Given the description of an element on the screen output the (x, y) to click on. 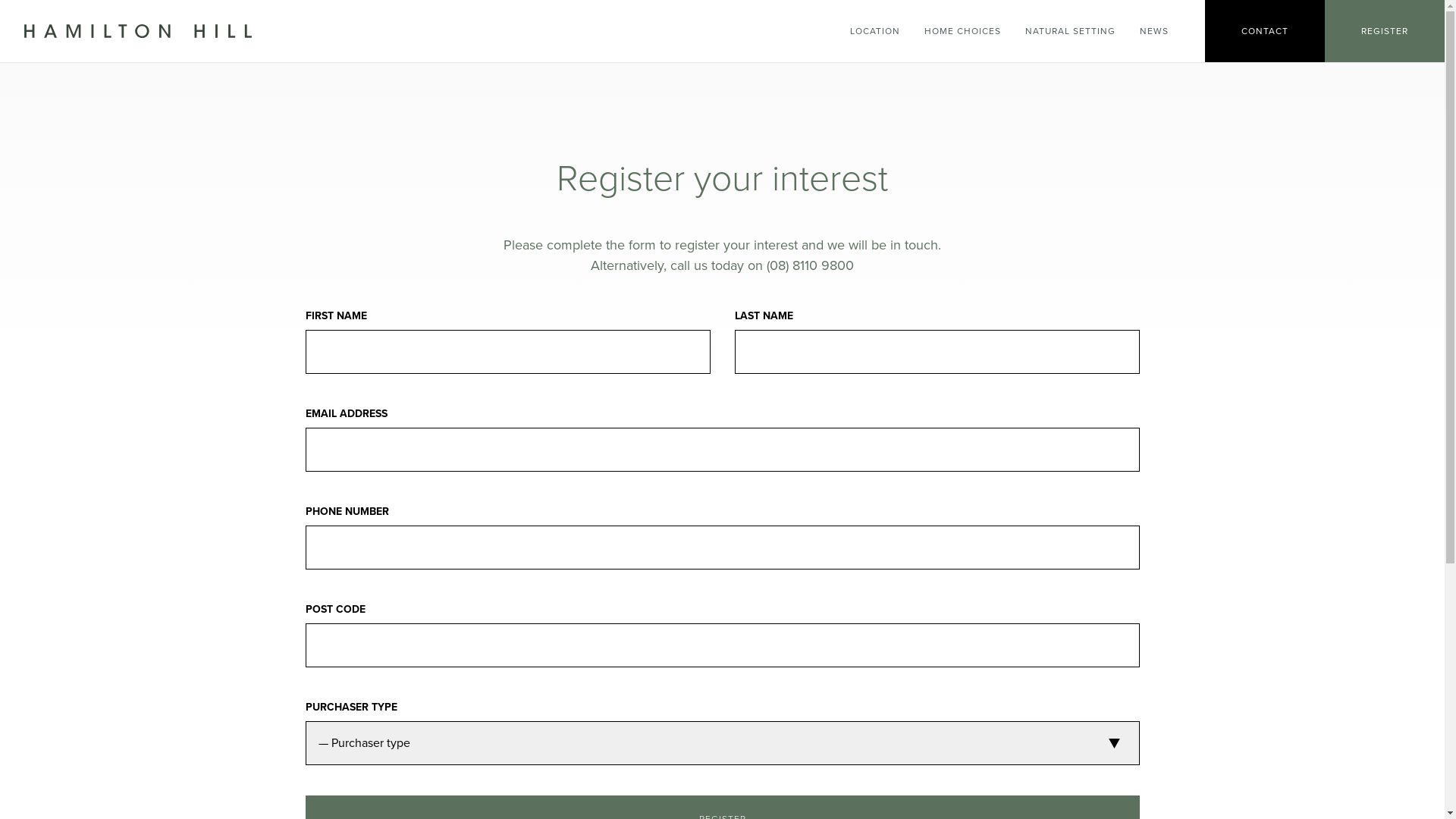
NEWS Element type: text (1153, 31)
CONTACT Element type: text (1264, 31)
LOCATION Element type: text (874, 31)
REGISTER Element type: text (1384, 31)
Go to Hamilton Hill home page Element type: hover (131, 31)
HOME CHOICES Element type: text (962, 31)
NATURAL SETTING Element type: text (1070, 31)
